Given the description of an element on the screen output the (x, y) to click on. 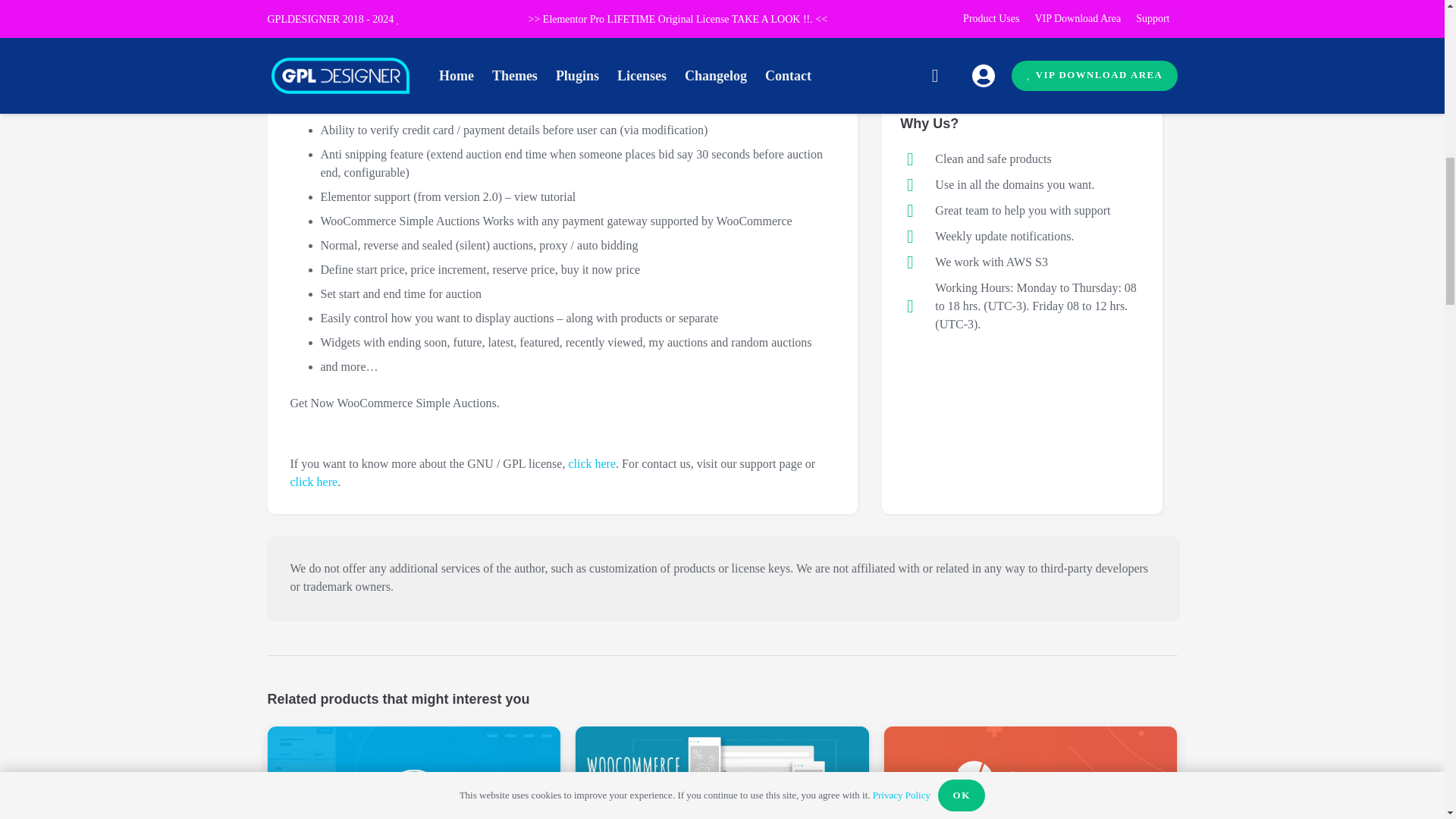
Send Notification (975, 38)
click here (591, 463)
click here (313, 481)
Send Notification (975, 38)
